Given the description of an element on the screen output the (x, y) to click on. 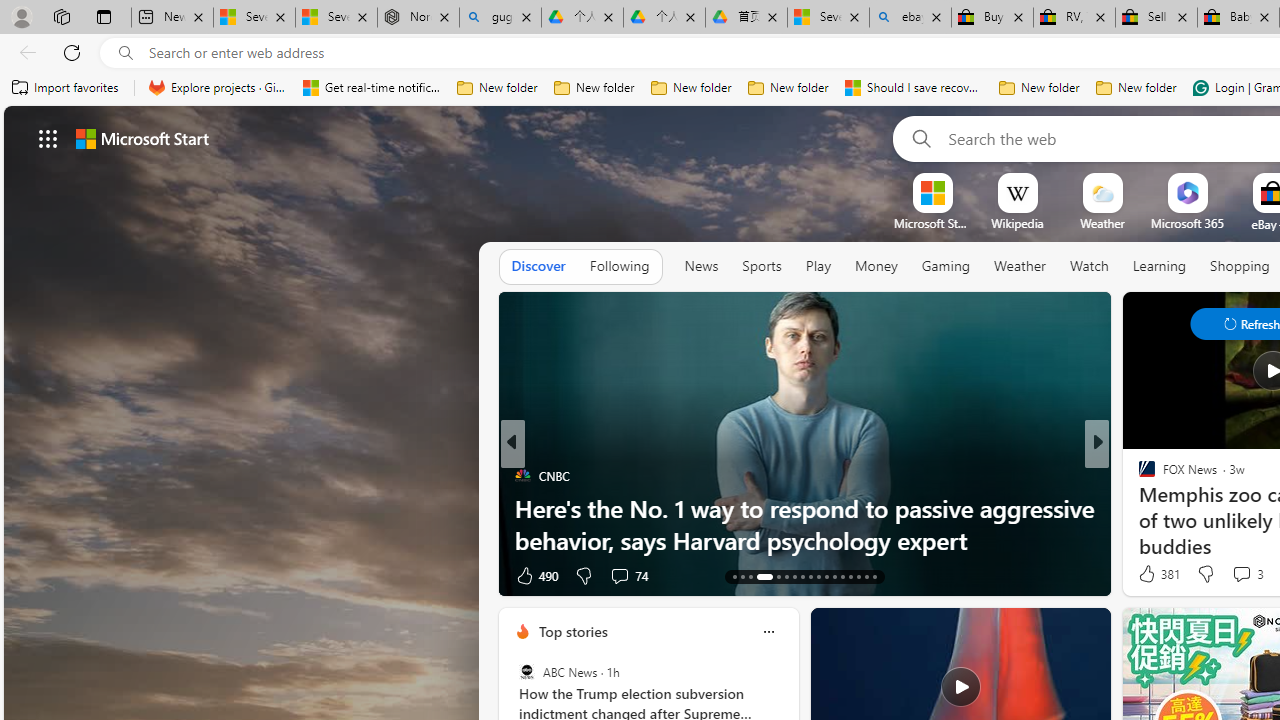
Sell worldwide with eBay (1156, 17)
Gaming (945, 267)
Learning (1159, 267)
Weather (1020, 265)
Sports (761, 265)
AutomationID: tab-26 (850, 576)
Watch (1089, 265)
AutomationID: tab-21 (810, 576)
Shopping (1240, 265)
